Given the description of an element on the screen output the (x, y) to click on. 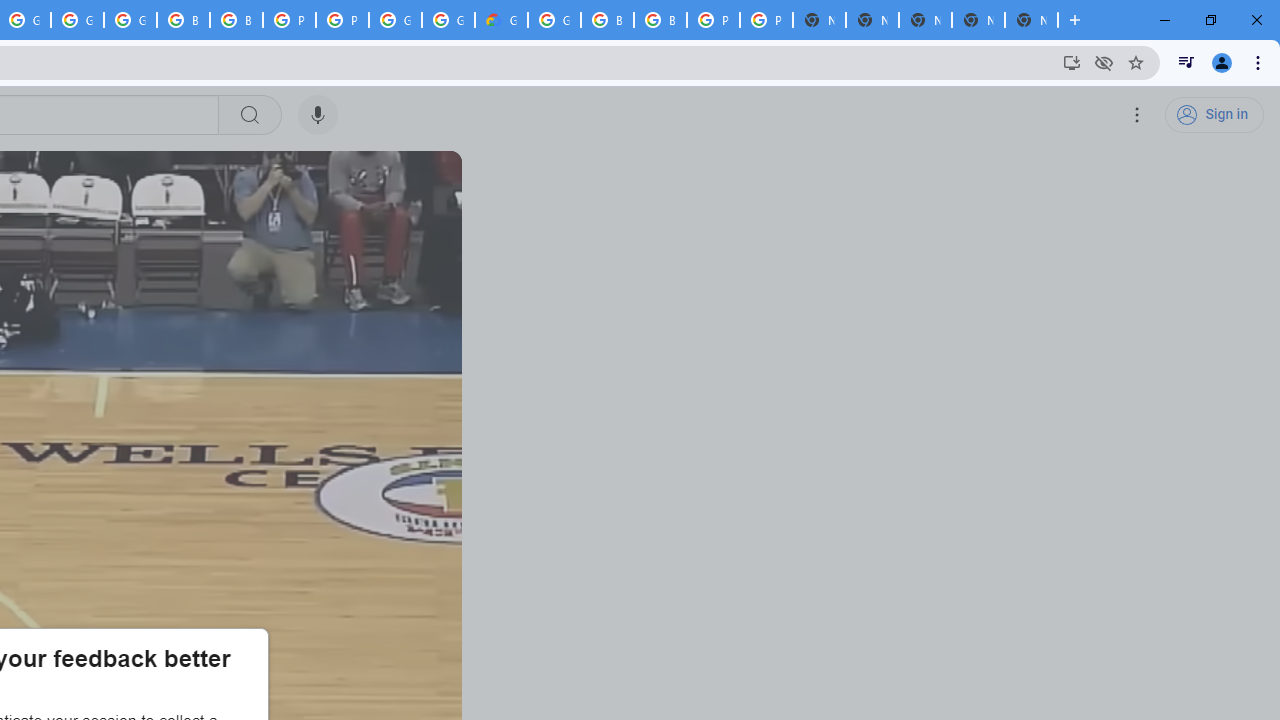
Search with your voice (317, 115)
Google Cloud Platform (554, 20)
Browse Chrome as a guest - Computer - Google Chrome Help (183, 20)
Browse Chrome as a guest - Computer - Google Chrome Help (235, 20)
